Given the description of an element on the screen output the (x, y) to click on. 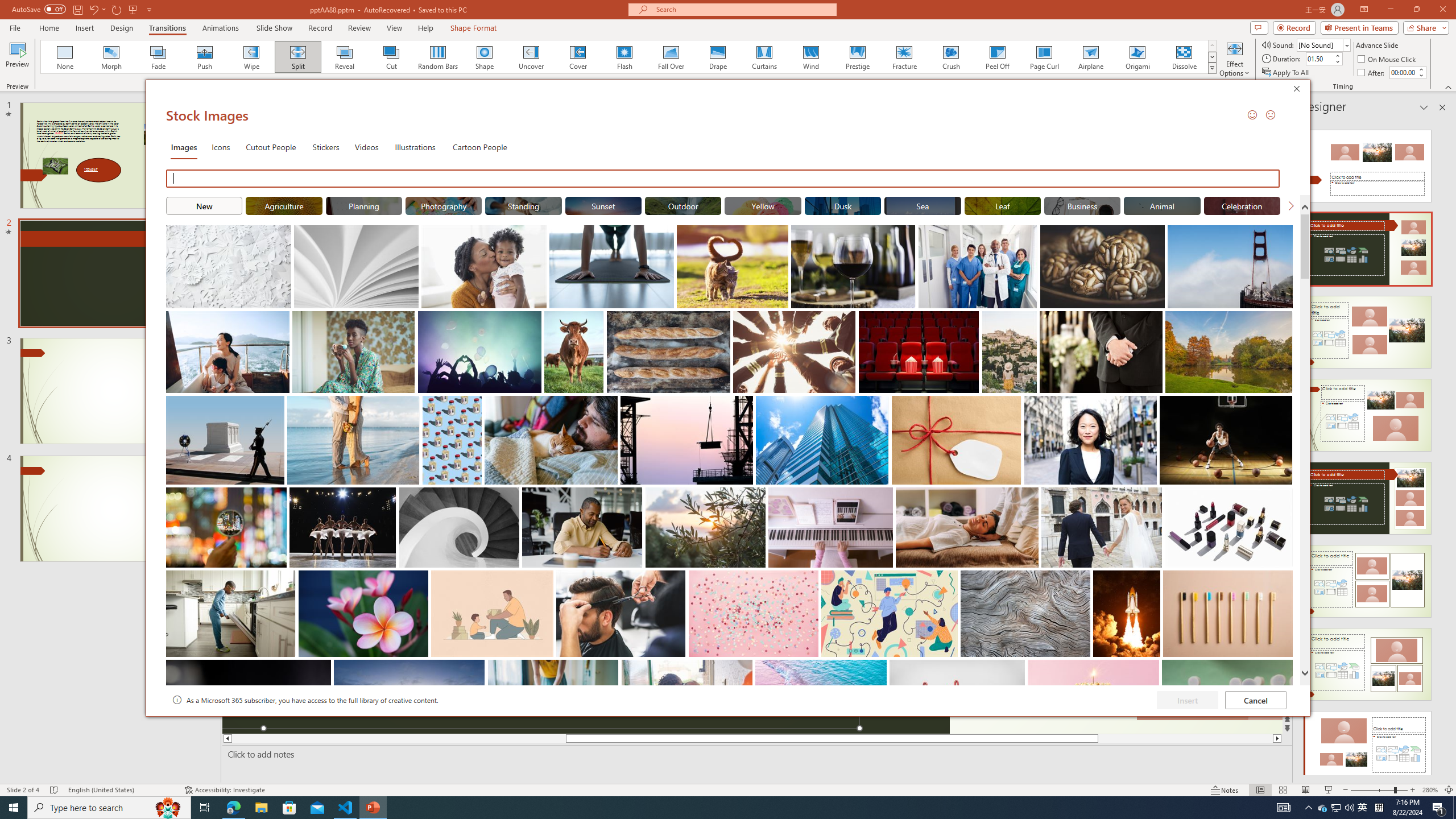
Show desktop (1454, 807)
Reveal (344, 56)
Notification Chevron (1308, 807)
Dissolve (1183, 56)
User Promoted Notification Area (1336, 807)
PowerPoint - 1 running window (373, 807)
